Given the description of an element on the screen output the (x, y) to click on. 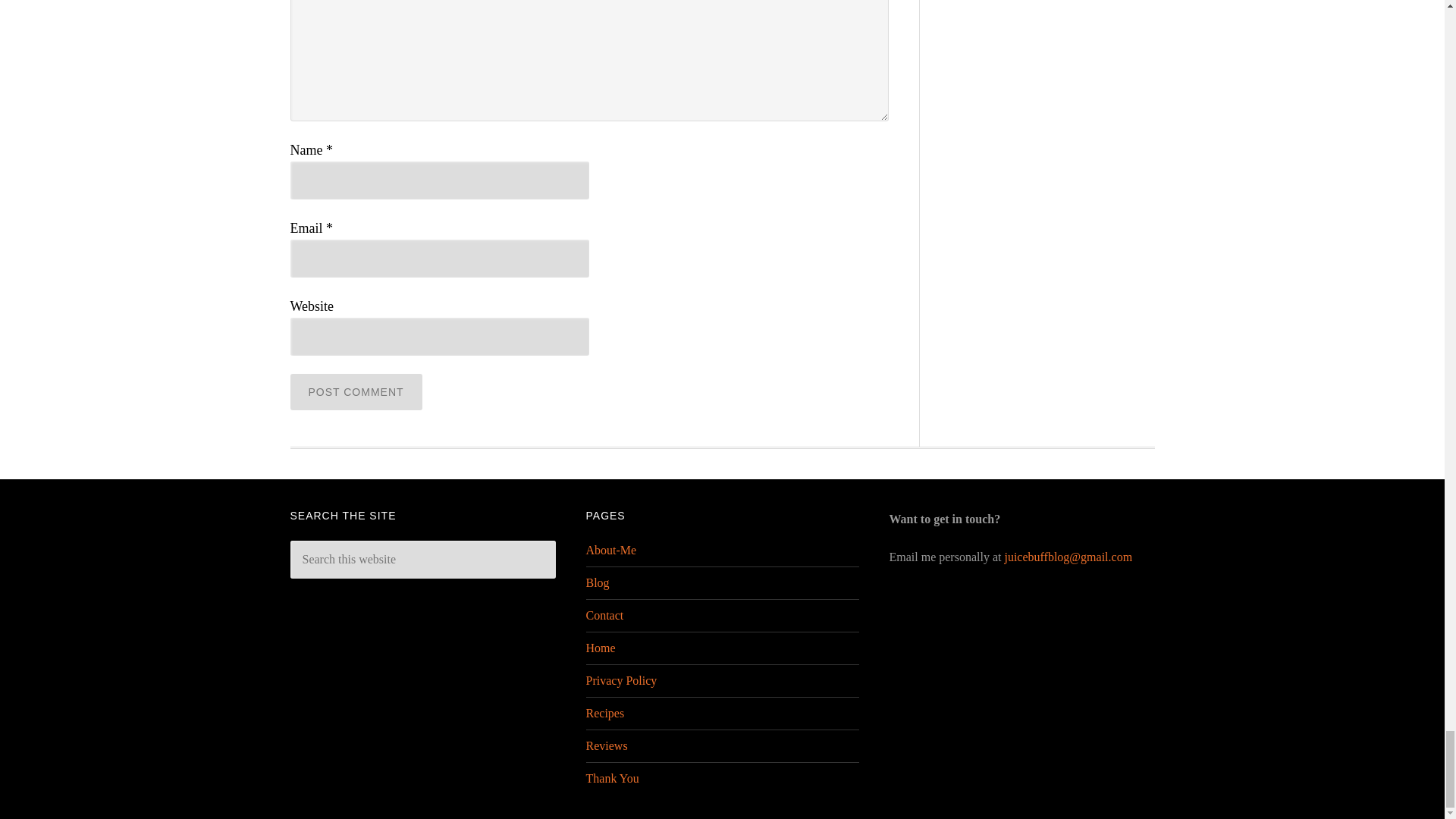
Post Comment (355, 391)
